Given the description of an element on the screen output the (x, y) to click on. 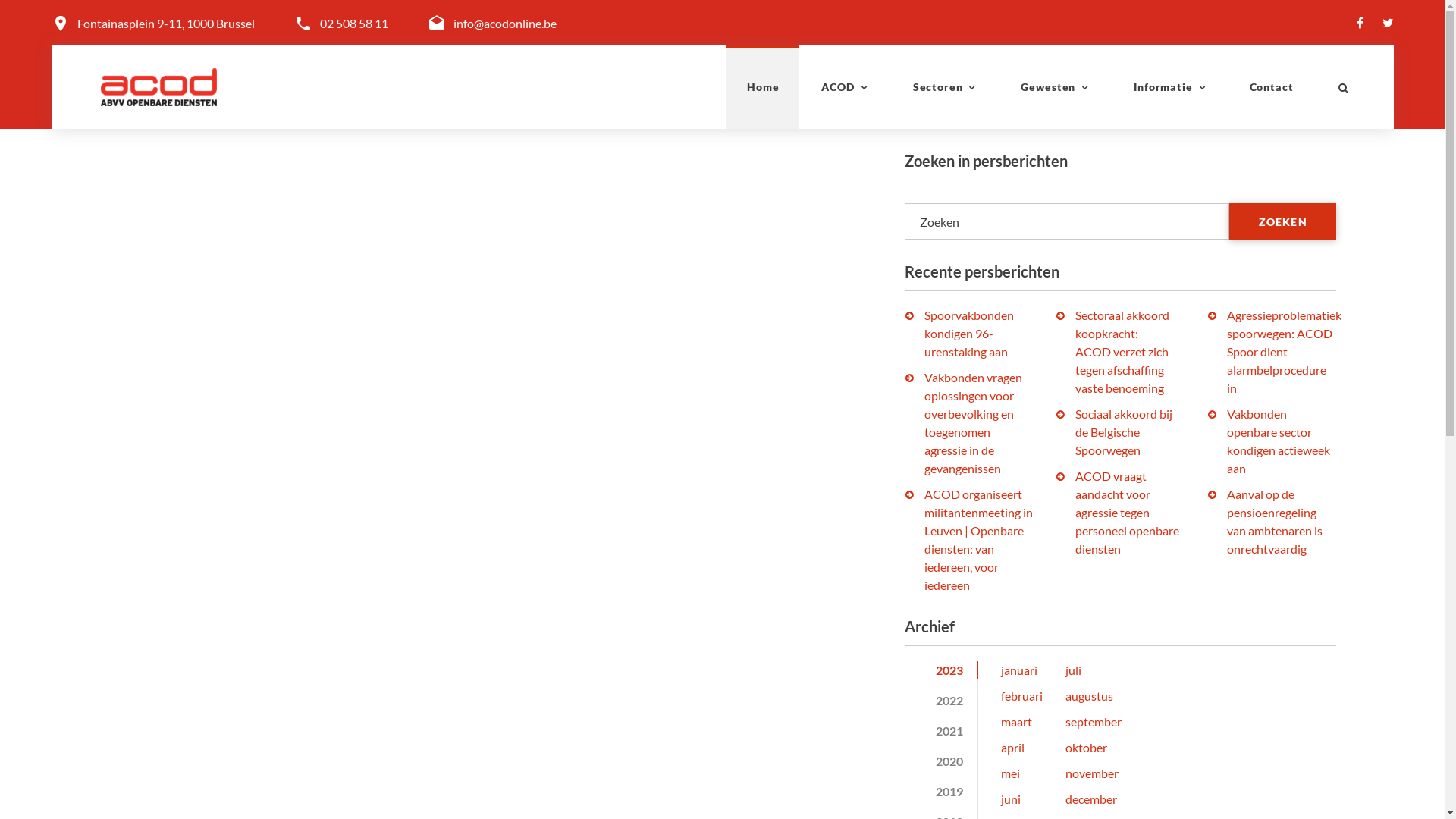
Contact Element type: text (1271, 86)
02 508 58 11 Element type: text (354, 22)
november Element type: text (1091, 772)
april Element type: text (1012, 747)
mei Element type: text (1010, 772)
Vakbonden openbare sector kondigen actieweek aan Element type: text (1278, 440)
Home Element type: text (762, 86)
Spoorvakbonden kondigen 96-urenstaking aan  Element type: text (968, 332)
ZOEKEN Element type: text (1282, 221)
Gewesten Element type: text (1054, 86)
Fontainasplein 9-11, 1000 Brussel Element type: text (165, 23)
juni Element type: text (1010, 798)
januari Element type: text (1019, 669)
ACOD Element type: text (844, 86)
Sectoren Element type: text (945, 86)
oktober Element type: text (1086, 747)
juli Element type: text (1073, 669)
info@acodonline.be Element type: text (504, 22)
februari Element type: text (1021, 695)
december Element type: text (1091, 798)
Informatie Element type: text (1169, 86)
september Element type: text (1093, 721)
maart Element type: text (1016, 721)
augustus Element type: text (1089, 695)
Sociaal akkoord bij de Belgische Spoorwegen Element type: text (1123, 431)
